Given the description of an element on the screen output the (x, y) to click on. 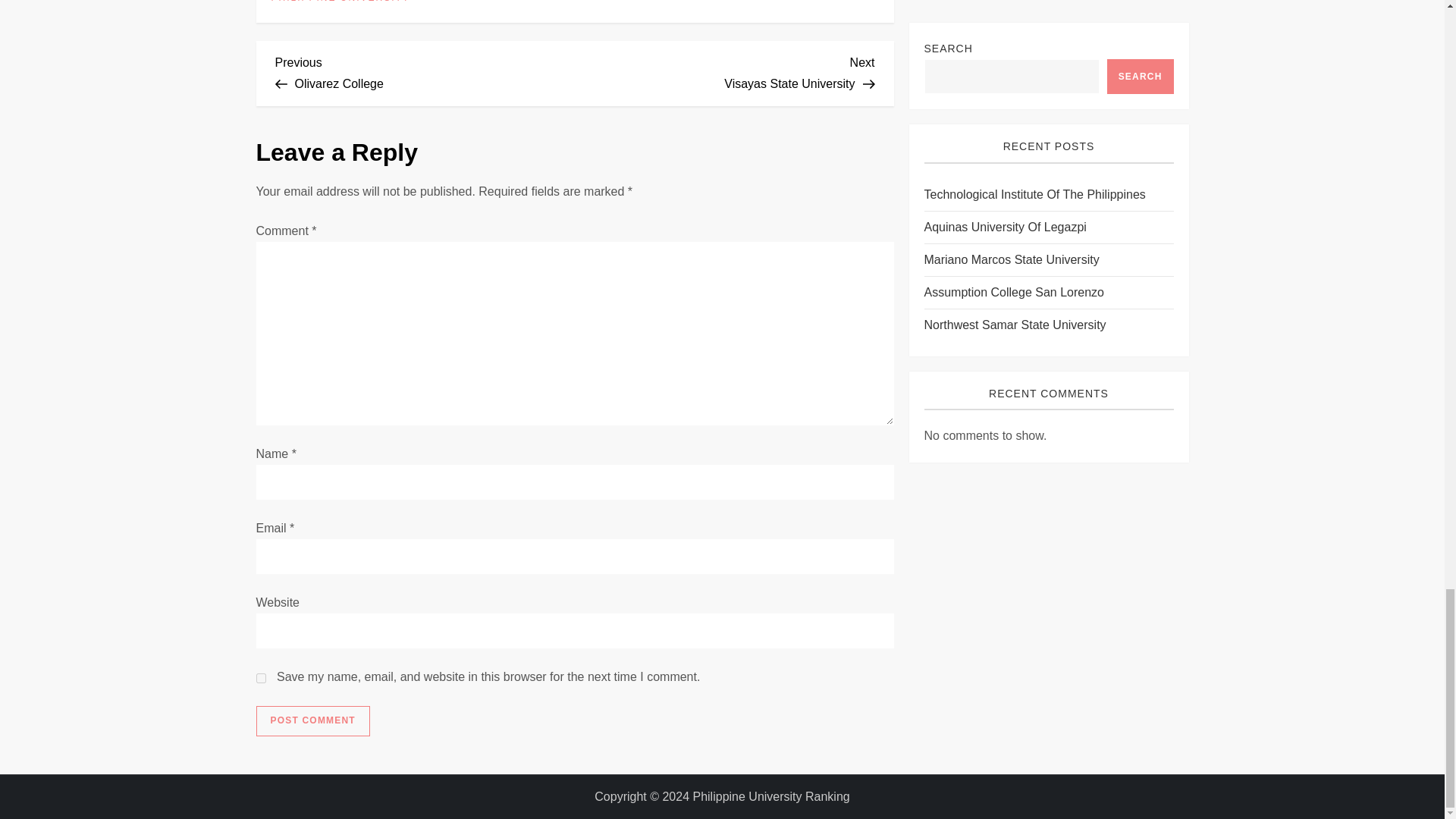
PHILIPPINE UNIVERSITY (340, 2)
yes (261, 678)
Post Comment (312, 720)
Post Comment (725, 71)
